Given the description of an element on the screen output the (x, y) to click on. 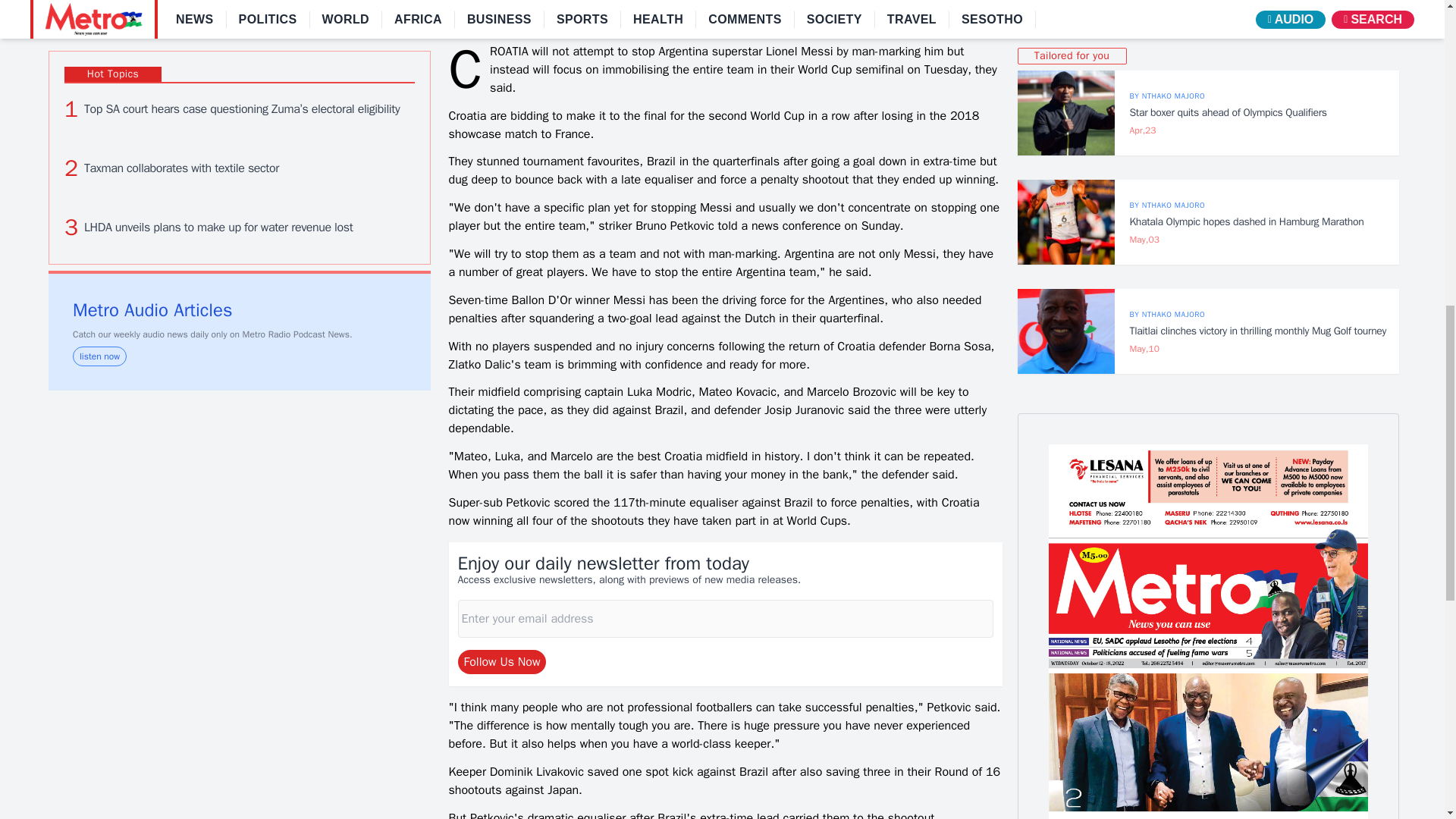
Taxman collaborates with textile sector (239, 167)
LHDA unveils plans to make up for water revenue lost (239, 226)
Follow Us Now (502, 662)
listen now (99, 356)
Khatala Olympic hopes dashed in Hamburg Marathon (1066, 221)
Star boxer quits ahead of Olympics Qualifiers (1066, 112)
